Given the description of an element on the screen output the (x, y) to click on. 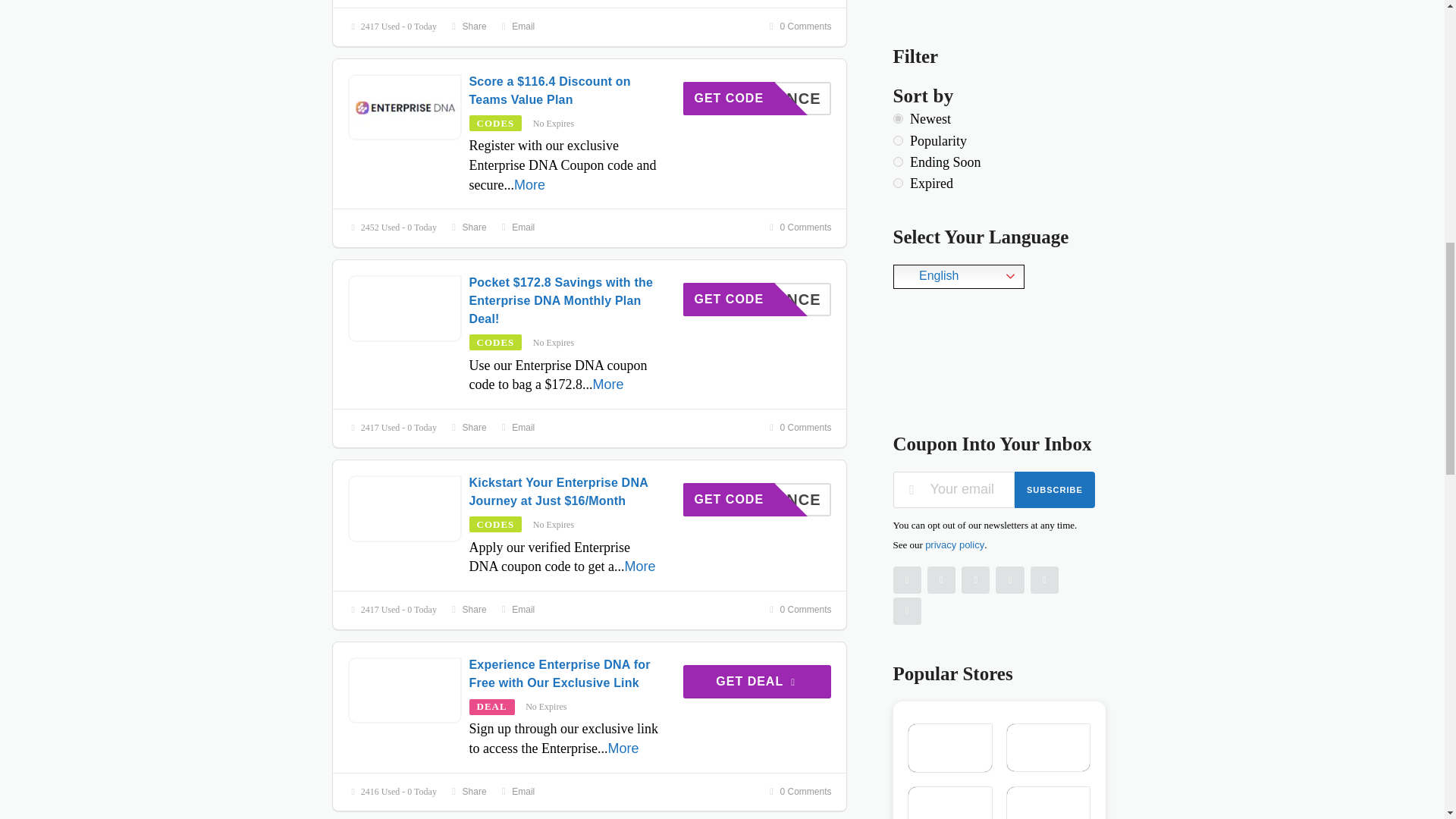
popularity (897, 140)
ending-soon (897, 162)
newest (897, 118)
expired (897, 183)
